Given the description of an element on the screen output the (x, y) to click on. 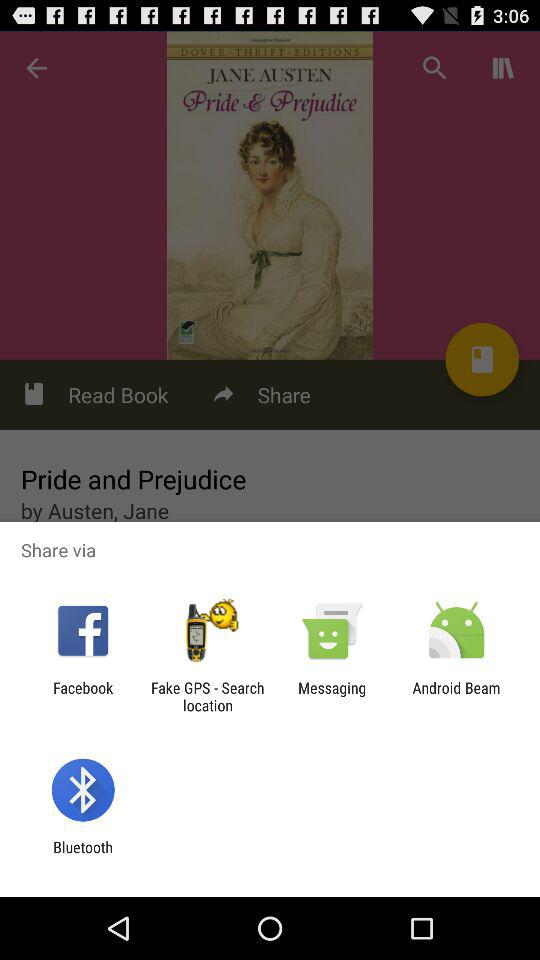
select icon to the left of the android beam item (332, 696)
